Given the description of an element on the screen output the (x, y) to click on. 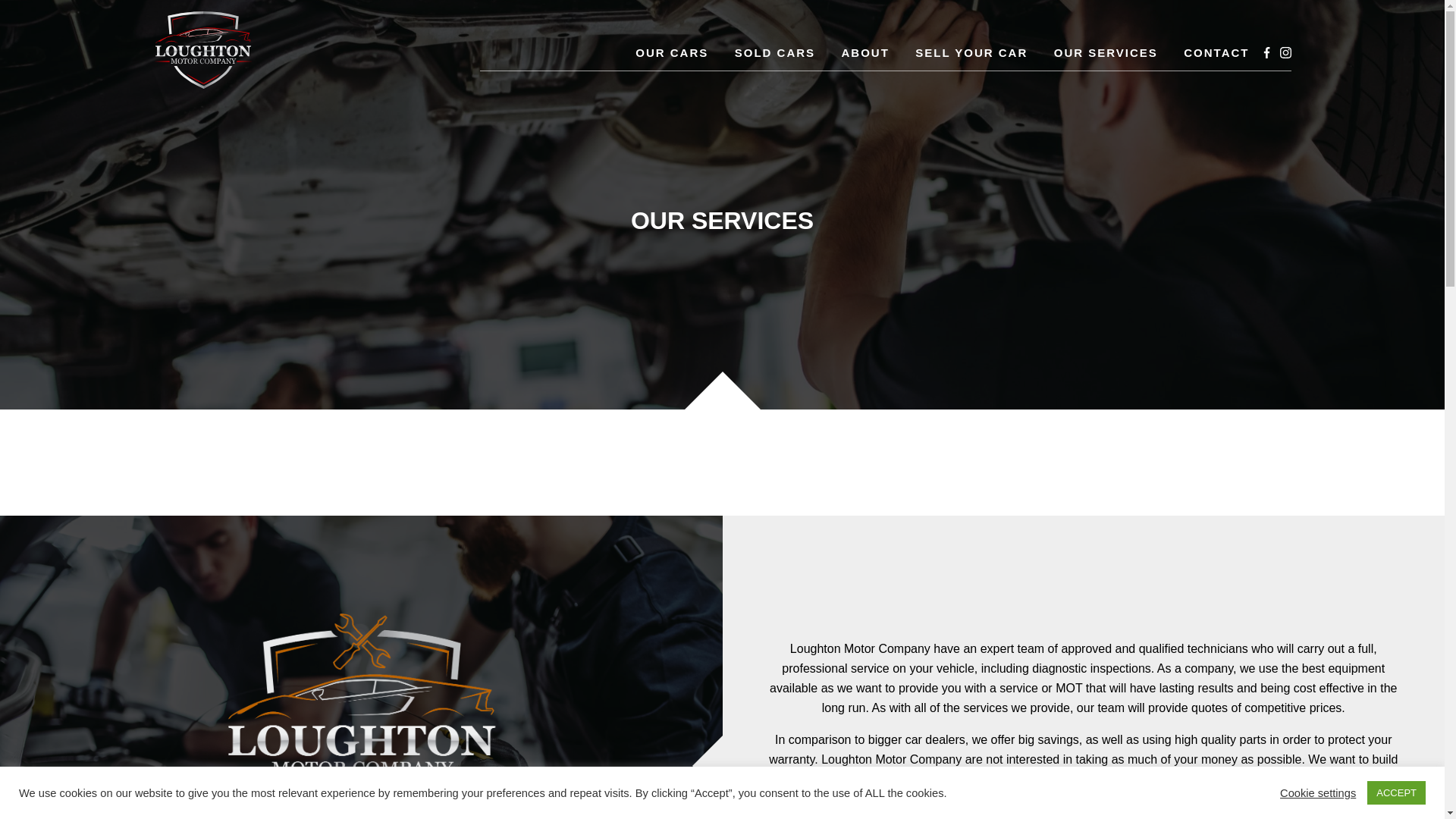
ABOUT (865, 53)
OUR CARS (670, 53)
CONTACT (1216, 53)
OUR SERVICES (1105, 53)
Cookie settings (1317, 792)
SOLD CARS (775, 53)
SELL YOUR CAR (971, 53)
ACCEPT (1396, 792)
